Given the description of an element on the screen output the (x, y) to click on. 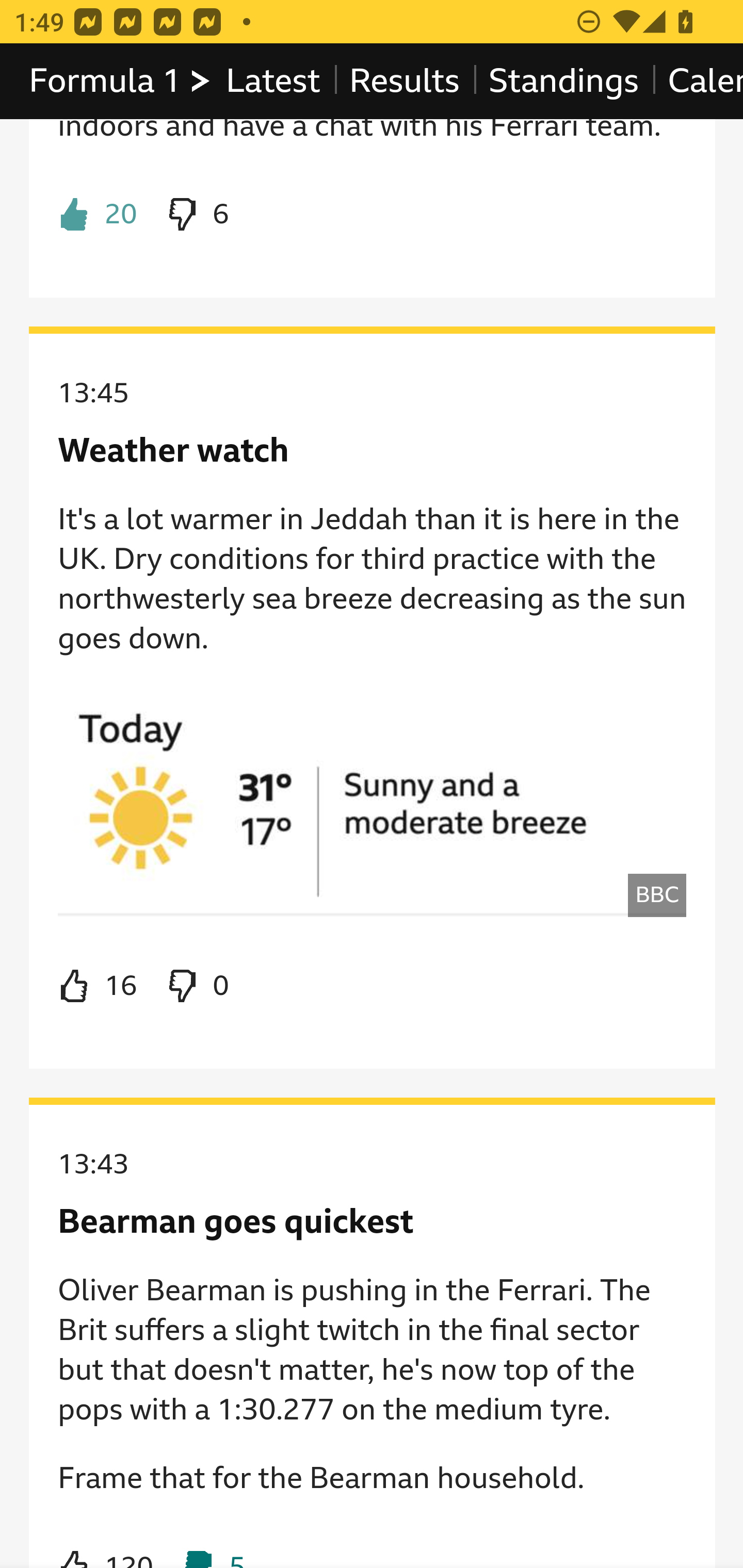
Liked (97, 214)
Dislike (196, 214)
Like (97, 986)
Dislike (196, 986)
